Given the description of an element on the screen output the (x, y) to click on. 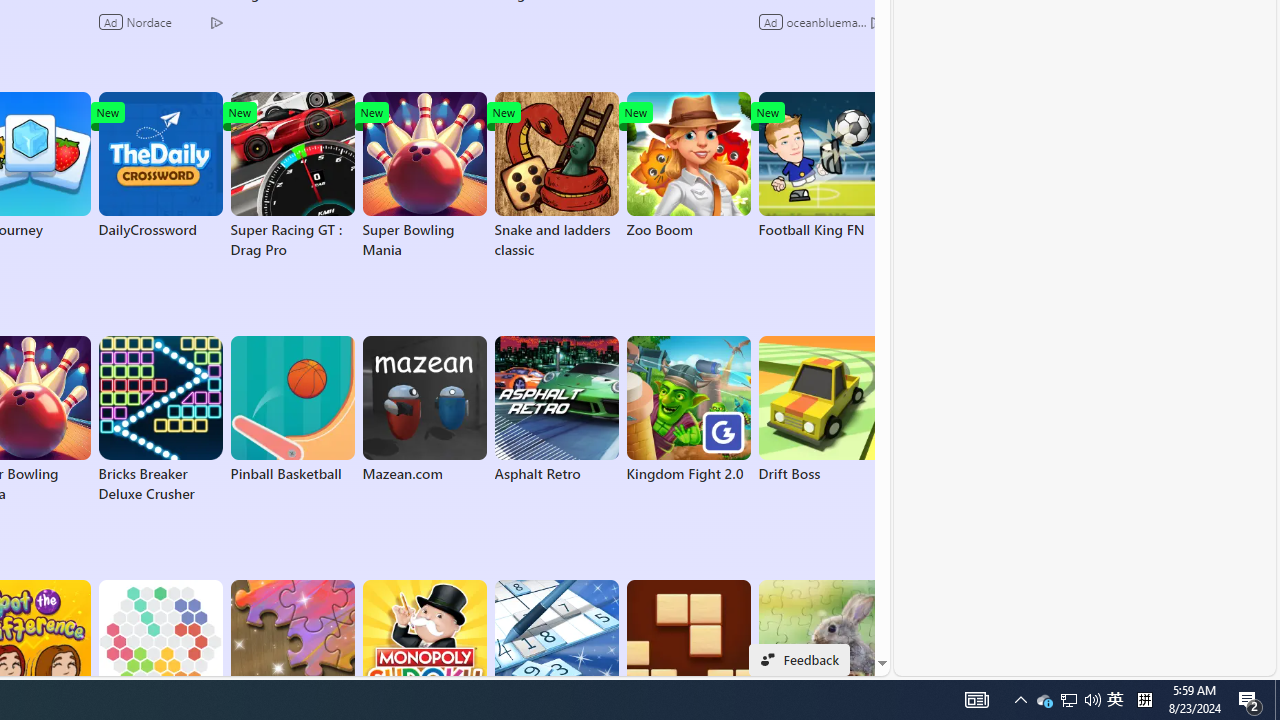
Super Racing GT : Drag Pro (292, 175)
Bricks Breaker Deluxe Crusher (160, 419)
Super Bowling Mania (424, 175)
Football King FN (820, 165)
Kingdom Fight 2.0 (688, 409)
Mazean.com (424, 409)
DailyCrossword (160, 165)
Snake and ladders classic (556, 175)
Pinball Basketball (292, 409)
Drift Boss (820, 409)
Class: ad-choice  ad-choice-mono  (876, 21)
Asphalt Retro (556, 409)
Zoo Boom (688, 165)
